Given the description of an element on the screen output the (x, y) to click on. 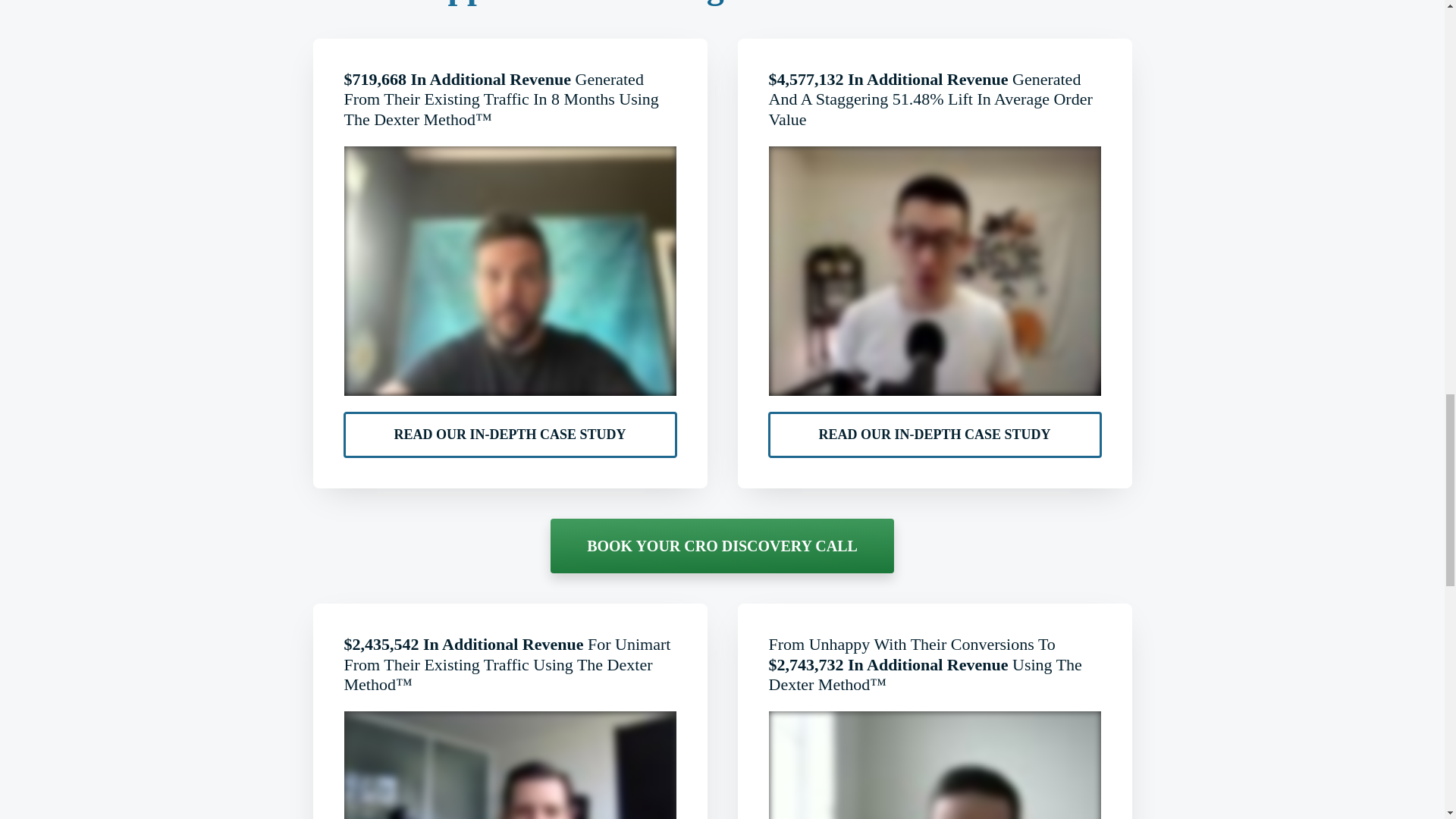
READ OUR IN-DEPTH CASE STUDY (933, 434)
BOOK YOUR CRO DISCOVERY CALL (721, 545)
READ OUR IN-DEPTH CASE STUDY (509, 434)
